Given the description of an element on the screen output the (x, y) to click on. 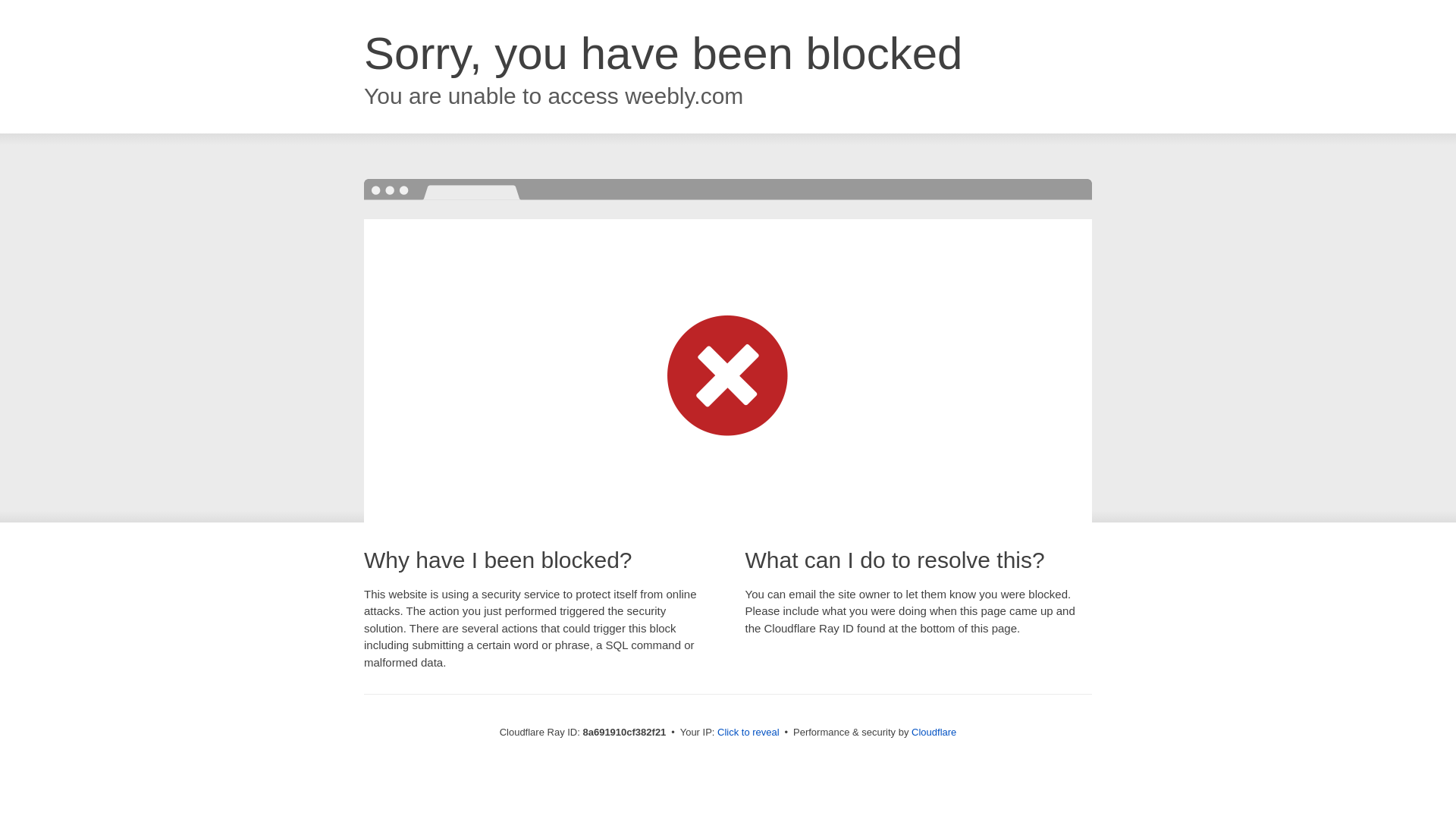
Cloudflare (933, 731)
Click to reveal (747, 732)
